Given the description of an element on the screen output the (x, y) to click on. 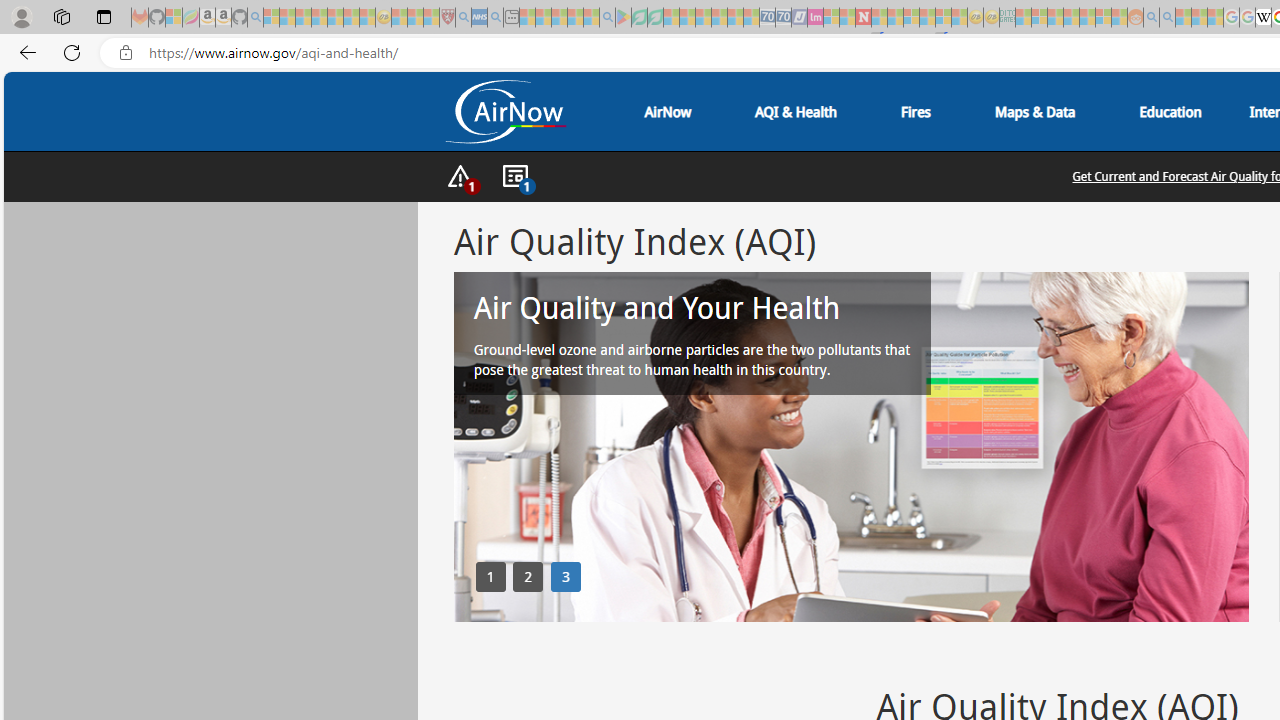
1 (489, 575)
Target page - Wikipedia (1263, 17)
Air Now Logo (504, 111)
